Given the description of an element on the screen output the (x, y) to click on. 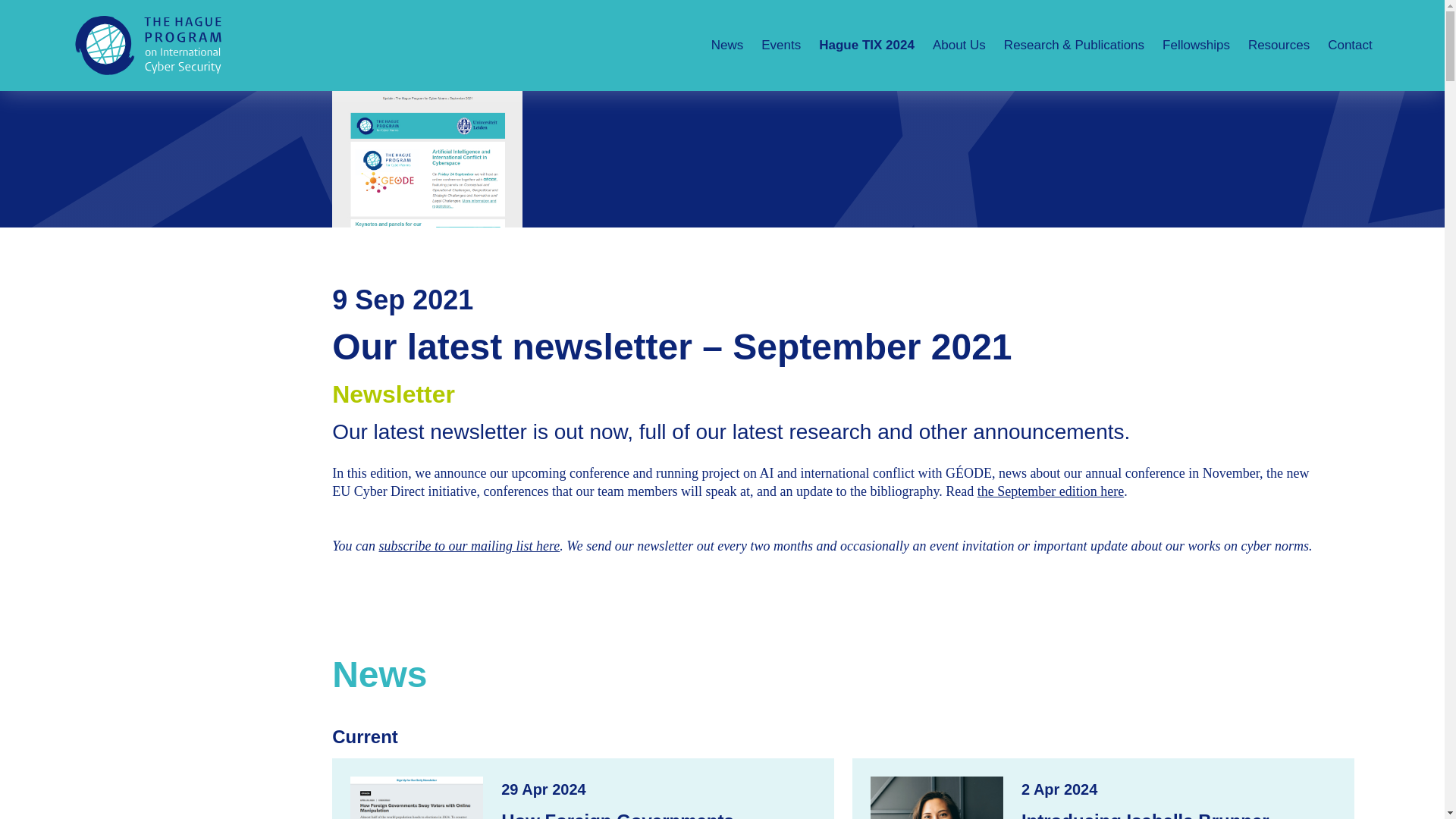
subscribe to our mailing list here (469, 545)
Resources (1279, 44)
About Us (958, 44)
the September edition here (1050, 491)
Events (780, 44)
Fellowships (1196, 44)
Contact (1346, 44)
News (726, 44)
Hague TIX 2024 (866, 44)
